Given the description of an element on the screen output the (x, y) to click on. 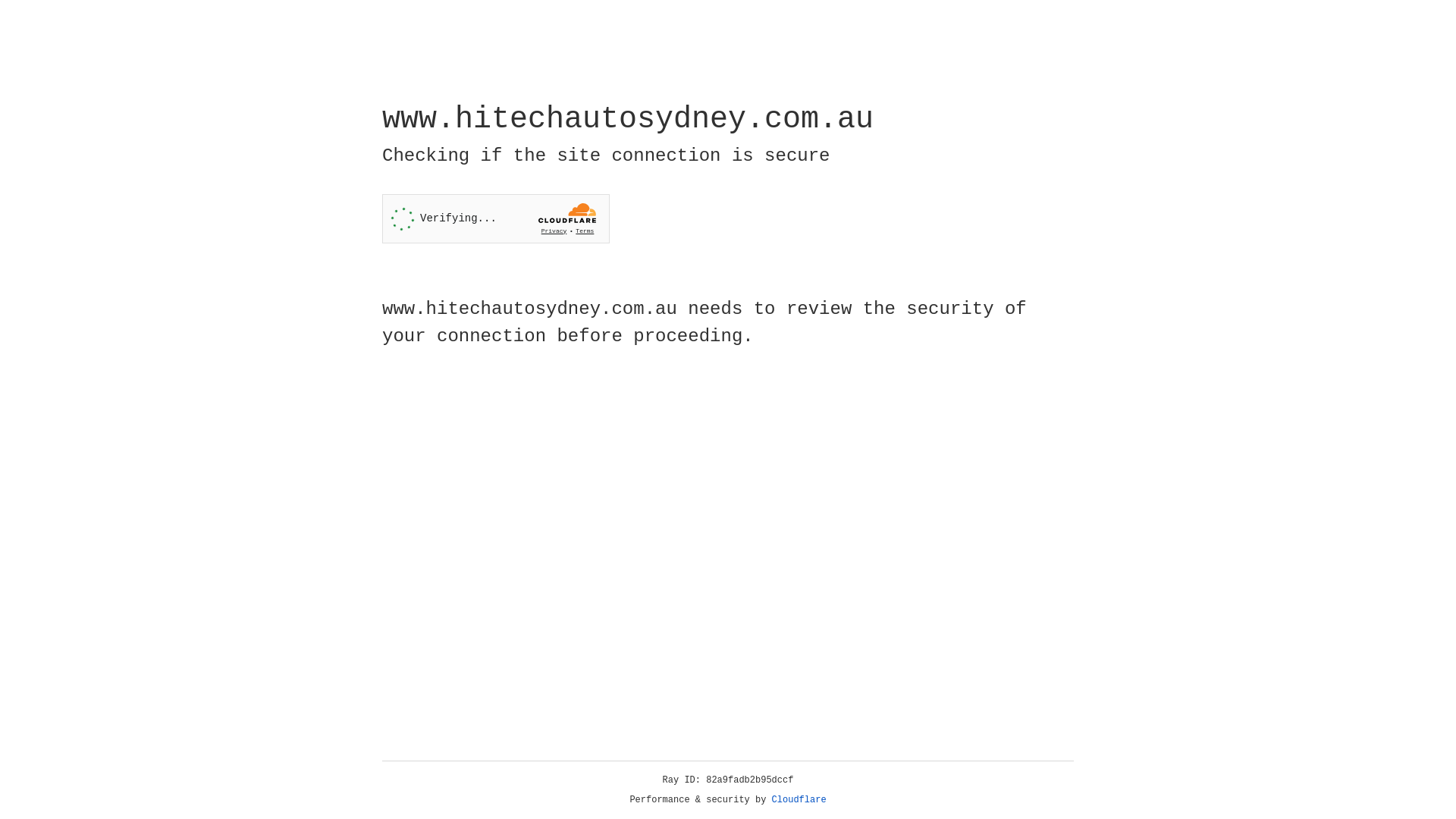
Cloudflare Element type: text (798, 799)
Widget containing a Cloudflare security challenge Element type: hover (495, 218)
